Given the description of an element on the screen output the (x, y) to click on. 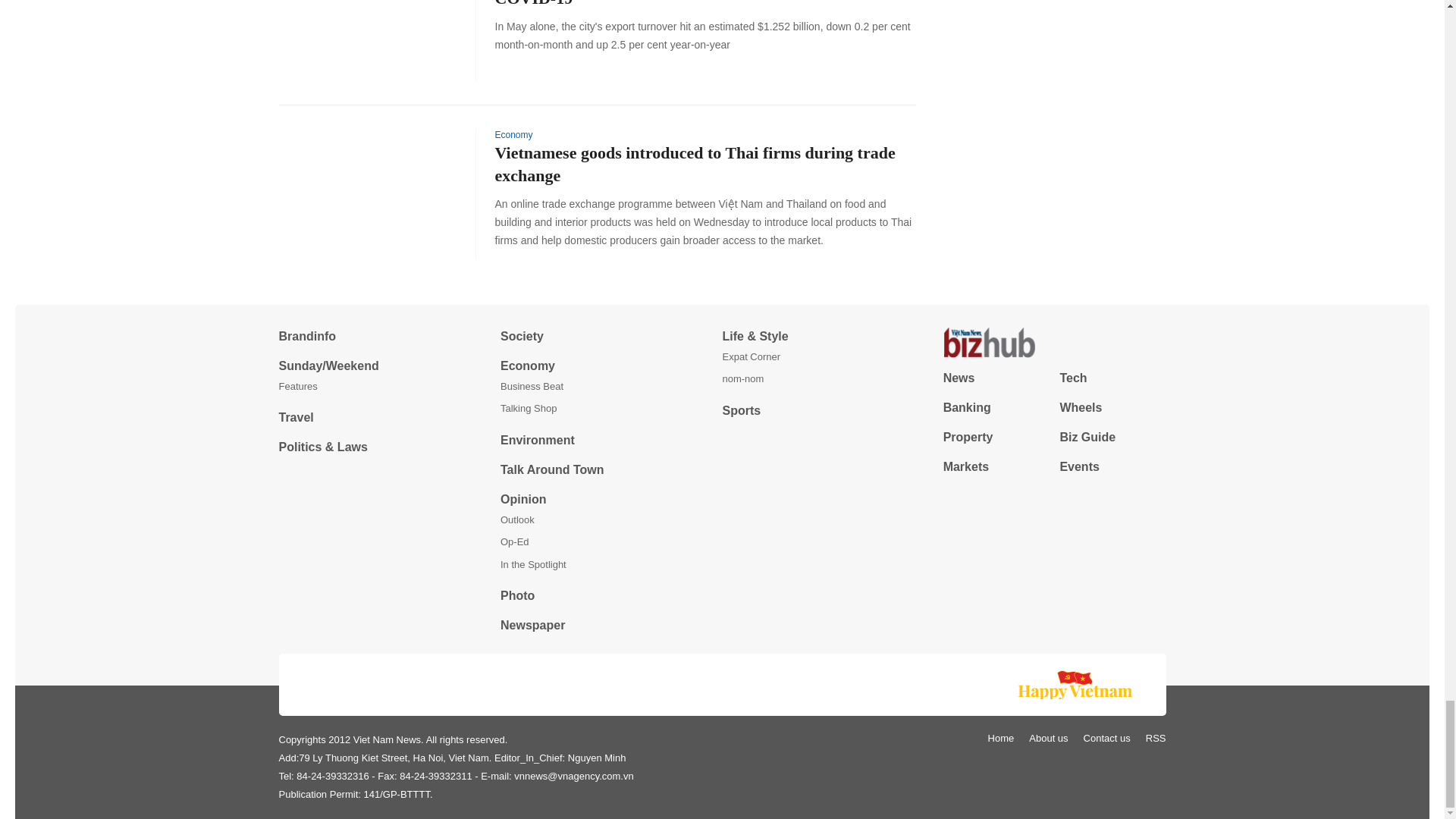
bizhub (1054, 342)
